Given the description of an element on the screen output the (x, y) to click on. 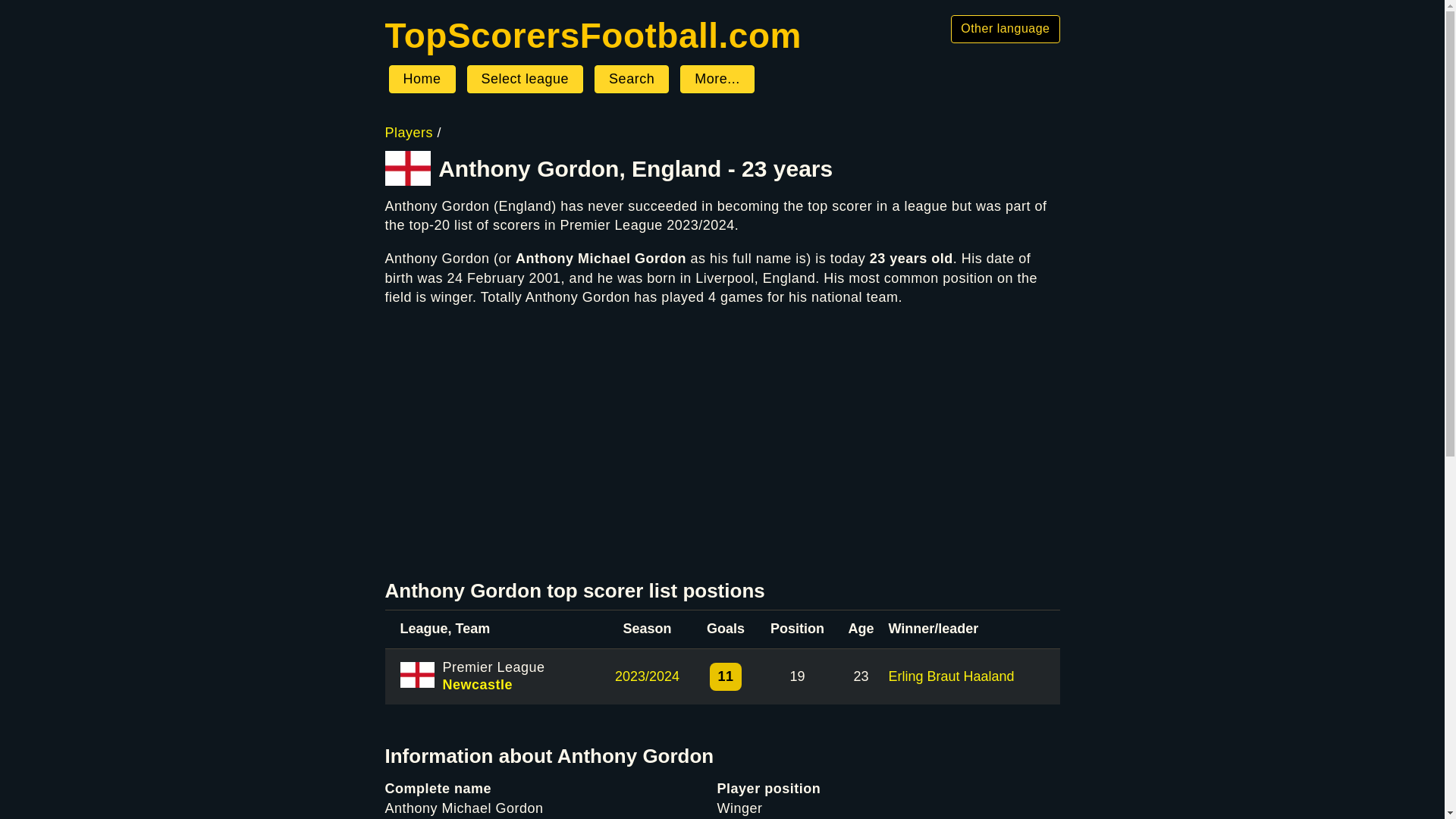
Other language (1004, 29)
Home (421, 79)
Home (421, 79)
Other language (1004, 29)
Select league (525, 79)
TopScorersFootball.com (593, 35)
Home (593, 35)
More... (716, 79)
Search (631, 79)
